Given the description of an element on the screen output the (x, y) to click on. 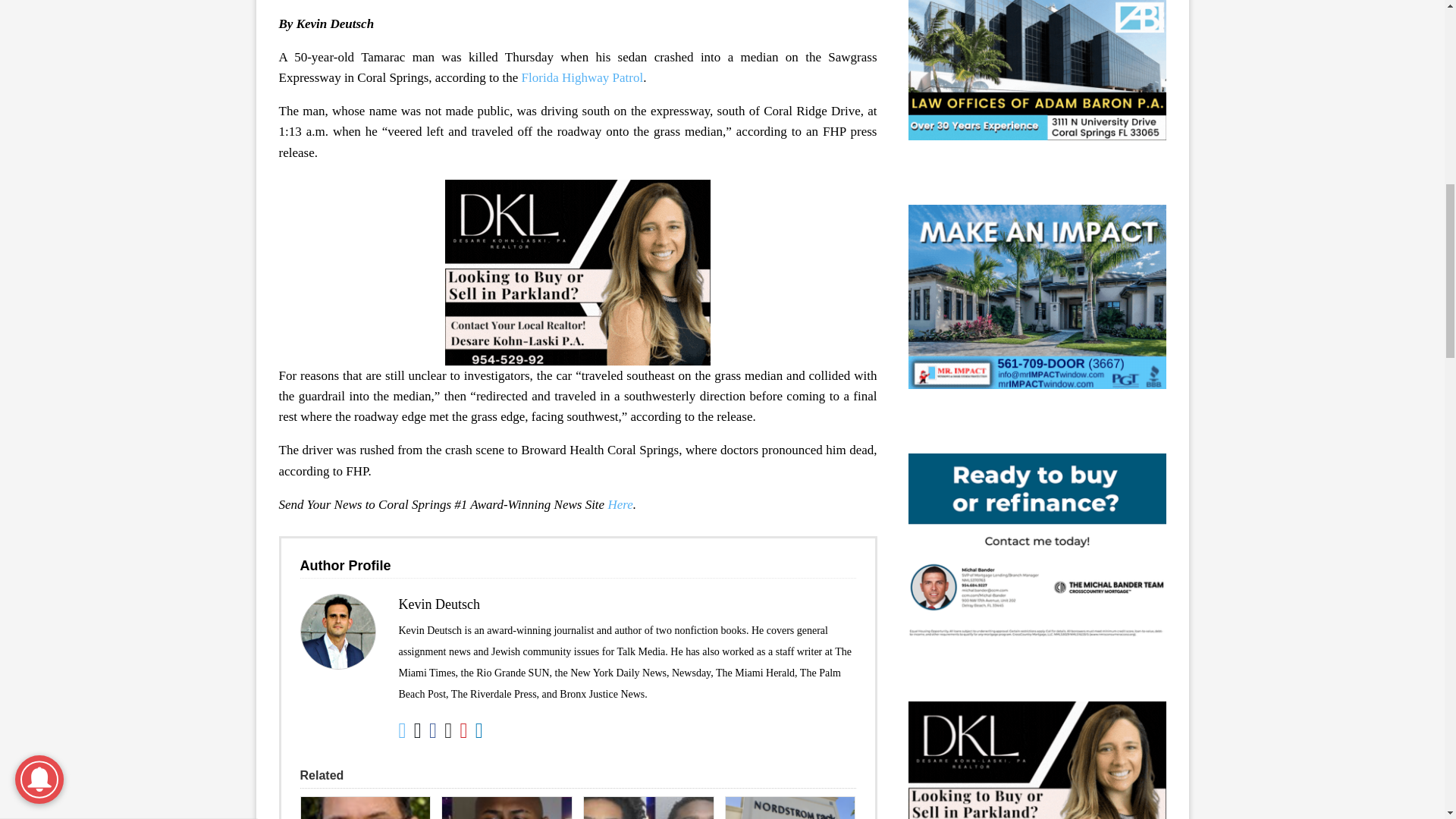
Man Killed in Crash on Sawgrass Expressway 7 (337, 631)
2 Charged with Murder of Coral Springs Man 4 (648, 807)
Nordstrom Rack to Debut in Coral Springs in 2025 5 (789, 807)
